Given the description of an element on the screen output the (x, y) to click on. 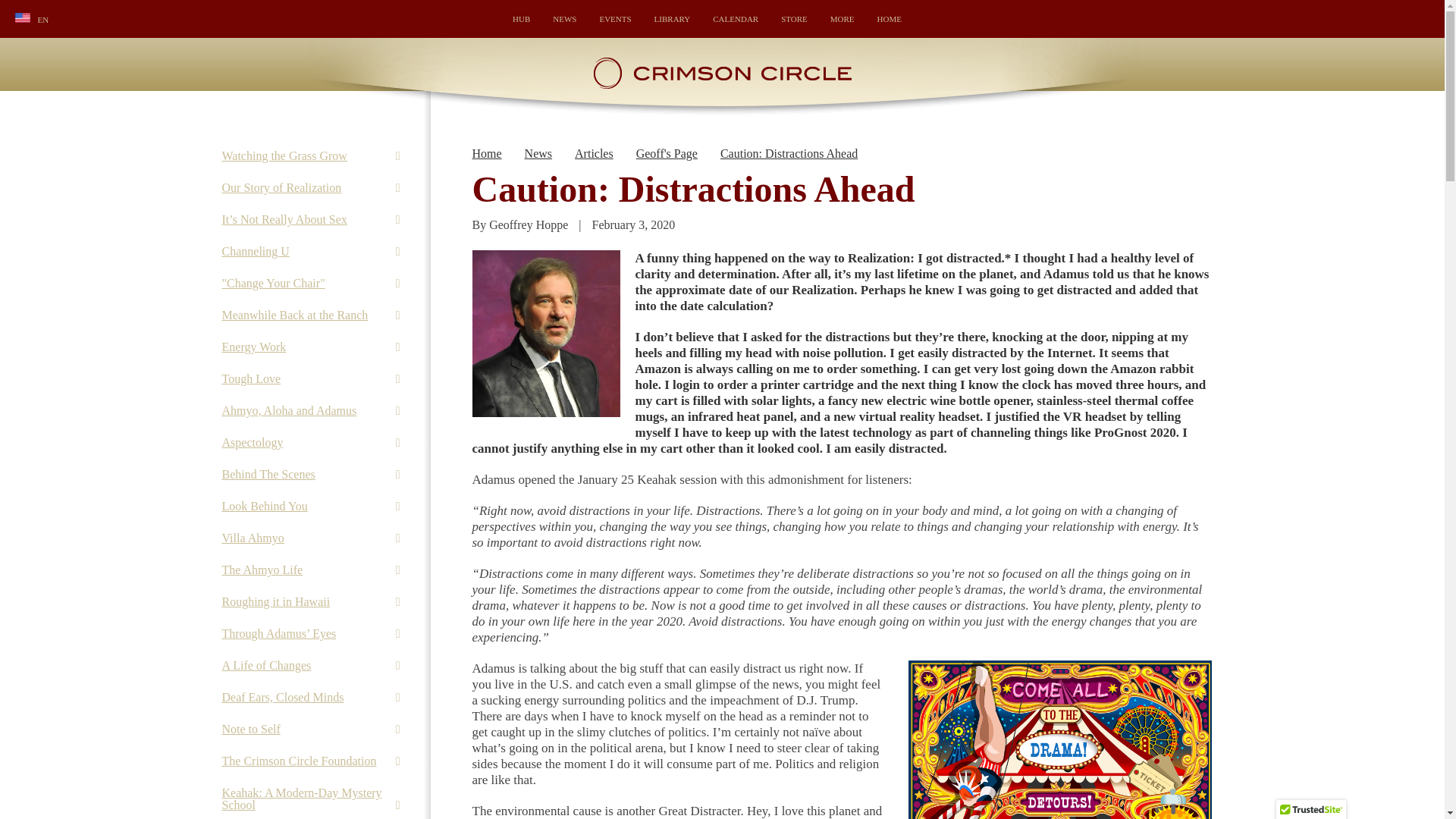
Opens a widget where you can find more information (1386, 800)
TrustedSite Certified (1310, 809)
Crimson Circle (721, 86)
